Given the description of an element on the screen output the (x, y) to click on. 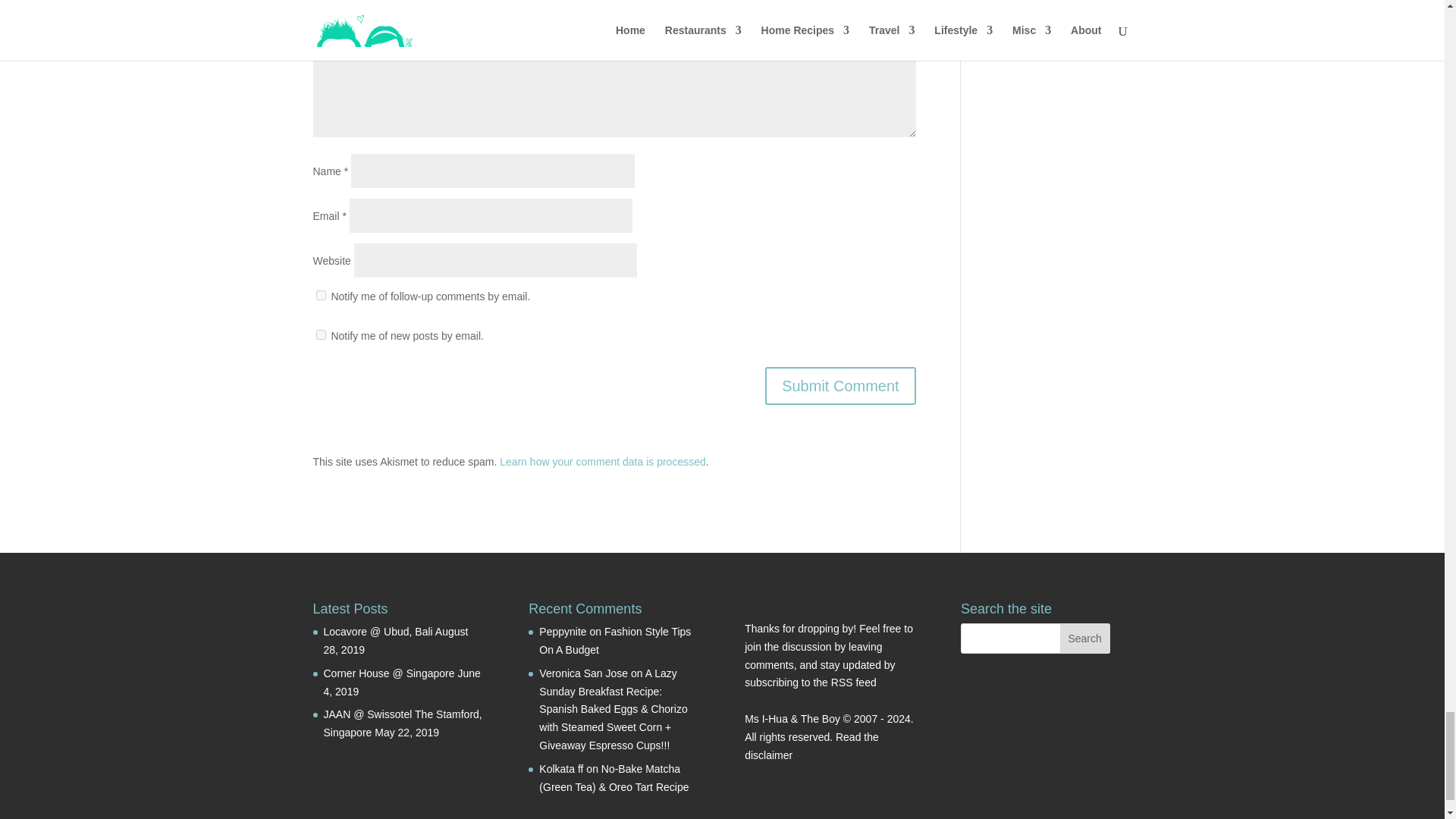
Submit Comment (840, 385)
subscribe (319, 334)
subscribe (319, 295)
Search (1084, 638)
